Given the description of an element on the screen output the (x, y) to click on. 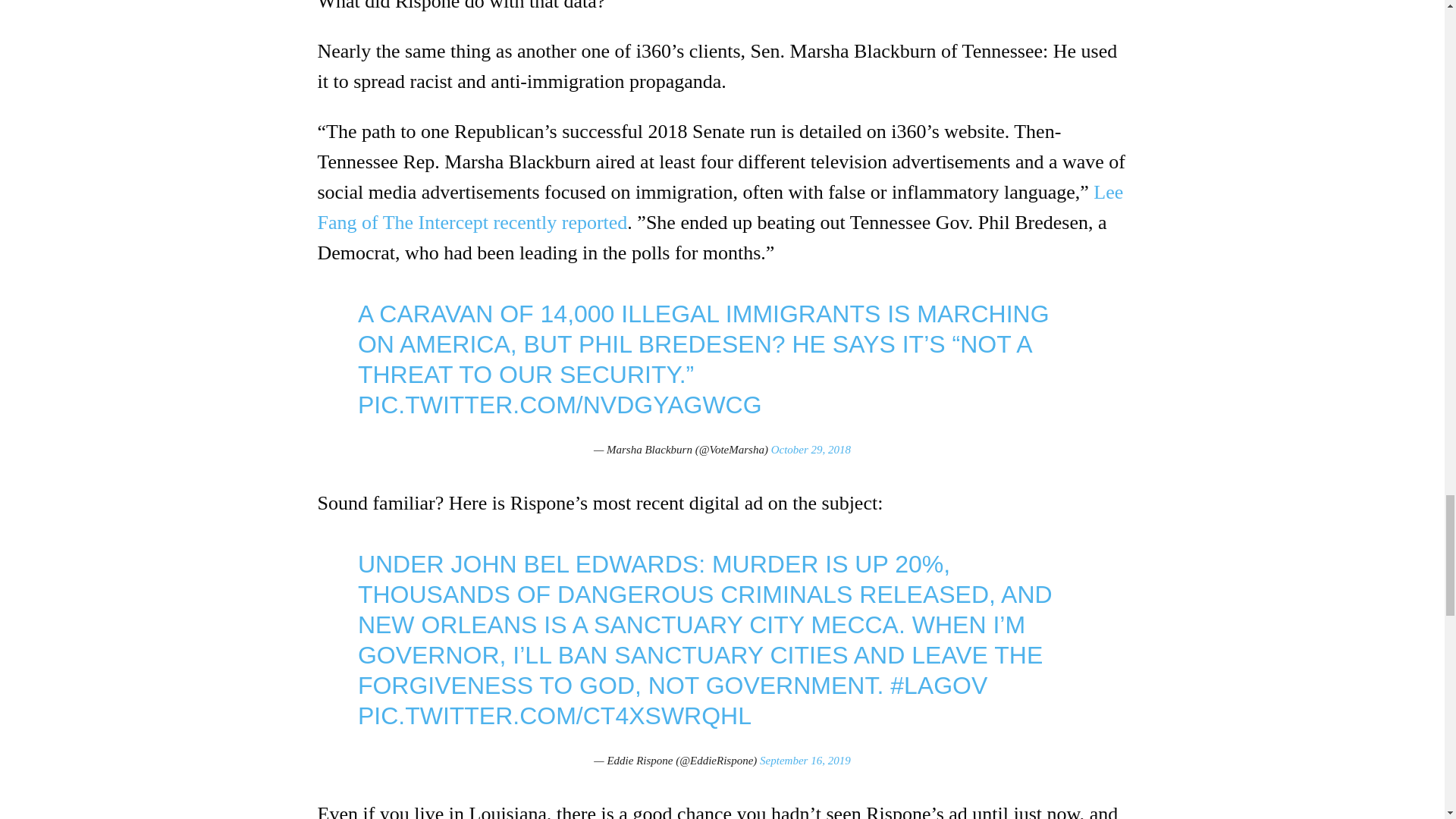
October 29, 2018 (810, 449)
September 16, 2019 (805, 760)
Lee Fang of The Intercept recently reported (719, 206)
